Given the description of an element on the screen output the (x, y) to click on. 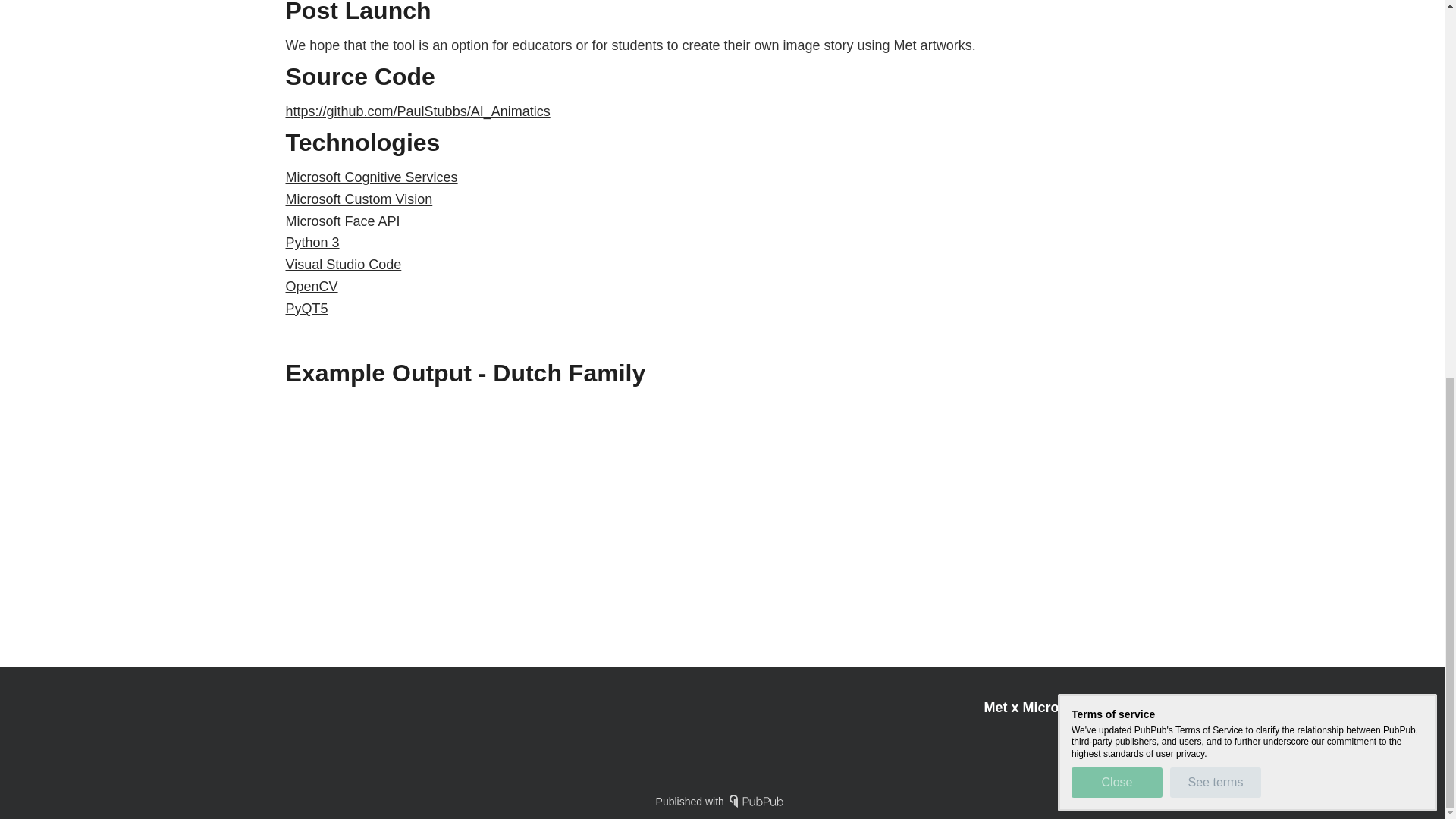
Microsoft Custom Vision (358, 199)
See terms (1215, 81)
Microsoft Cognitive Services (371, 177)
Legal (1145, 734)
Met x Microsoft x MIT Hack (1071, 707)
Published with (722, 801)
Close (1116, 81)
Python 3 (312, 242)
OpenCV (311, 286)
PyQT5 (306, 308)
Visual Studio Code (343, 264)
Microsoft Face API (341, 221)
RSS (1104, 734)
